Given the description of an element on the screen output the (x, y) to click on. 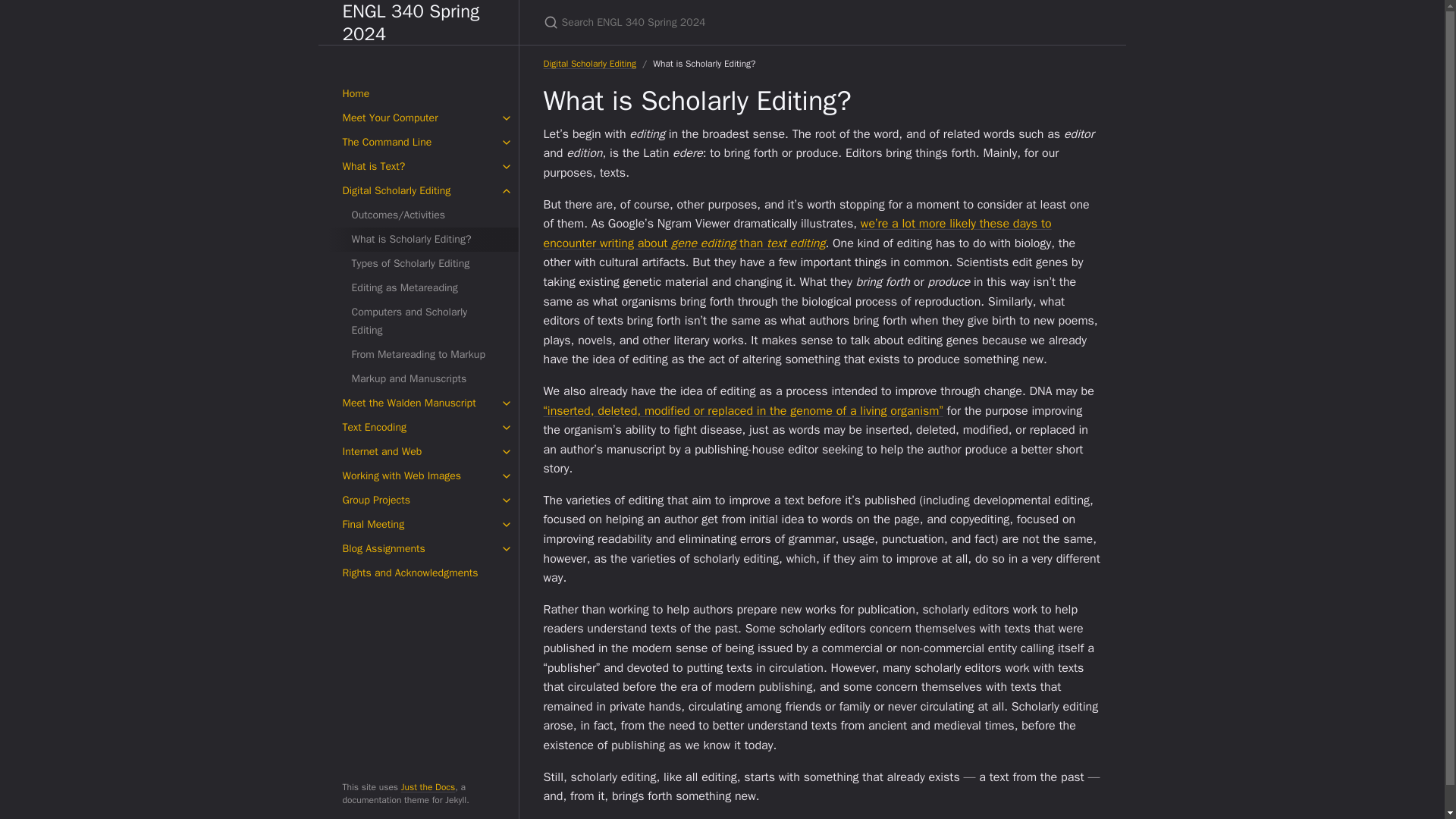
ENGL 340 Spring 2024 (418, 22)
The Command Line (418, 142)
Digital Scholarly Editing (418, 191)
Editing as Metareading (422, 288)
Computers and Scholarly Editing (422, 321)
What is Text? (418, 166)
Types of Scholarly Editing (422, 263)
Home (418, 93)
What is Scholarly Editing? (422, 239)
Meet Your Computer (418, 118)
